Given the description of an element on the screen output the (x, y) to click on. 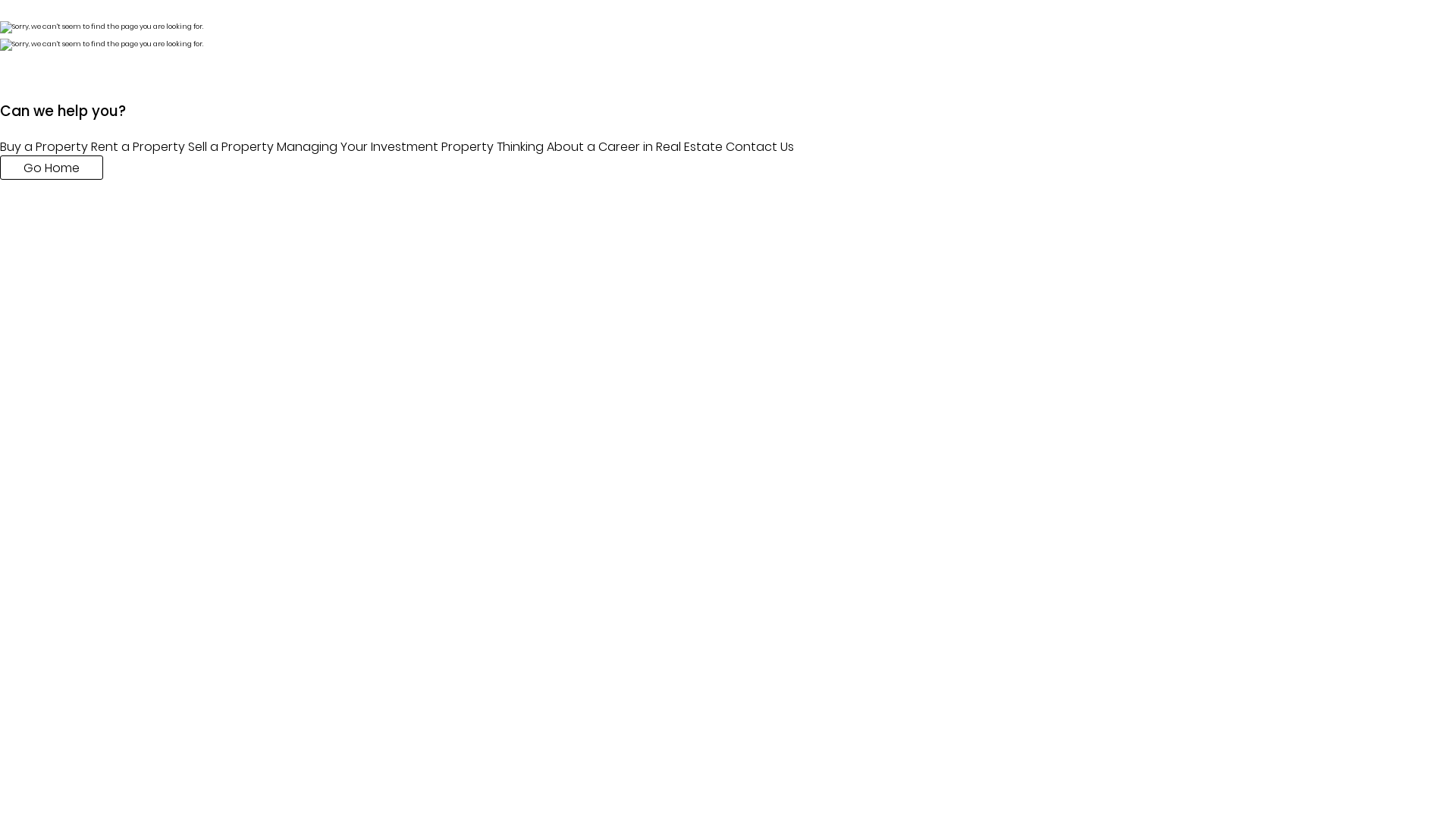
Rent a Property Element type: text (138, 146)
Managing Your Investment Property Element type: text (384, 146)
Thinking About a Career in Real Estate Element type: text (609, 146)
Buy a Property Element type: text (43, 146)
Go Home Element type: text (51, 167)
Contact Us Element type: text (759, 146)
Sell a Property Element type: text (230, 146)
